Given the description of an element on the screen output the (x, y) to click on. 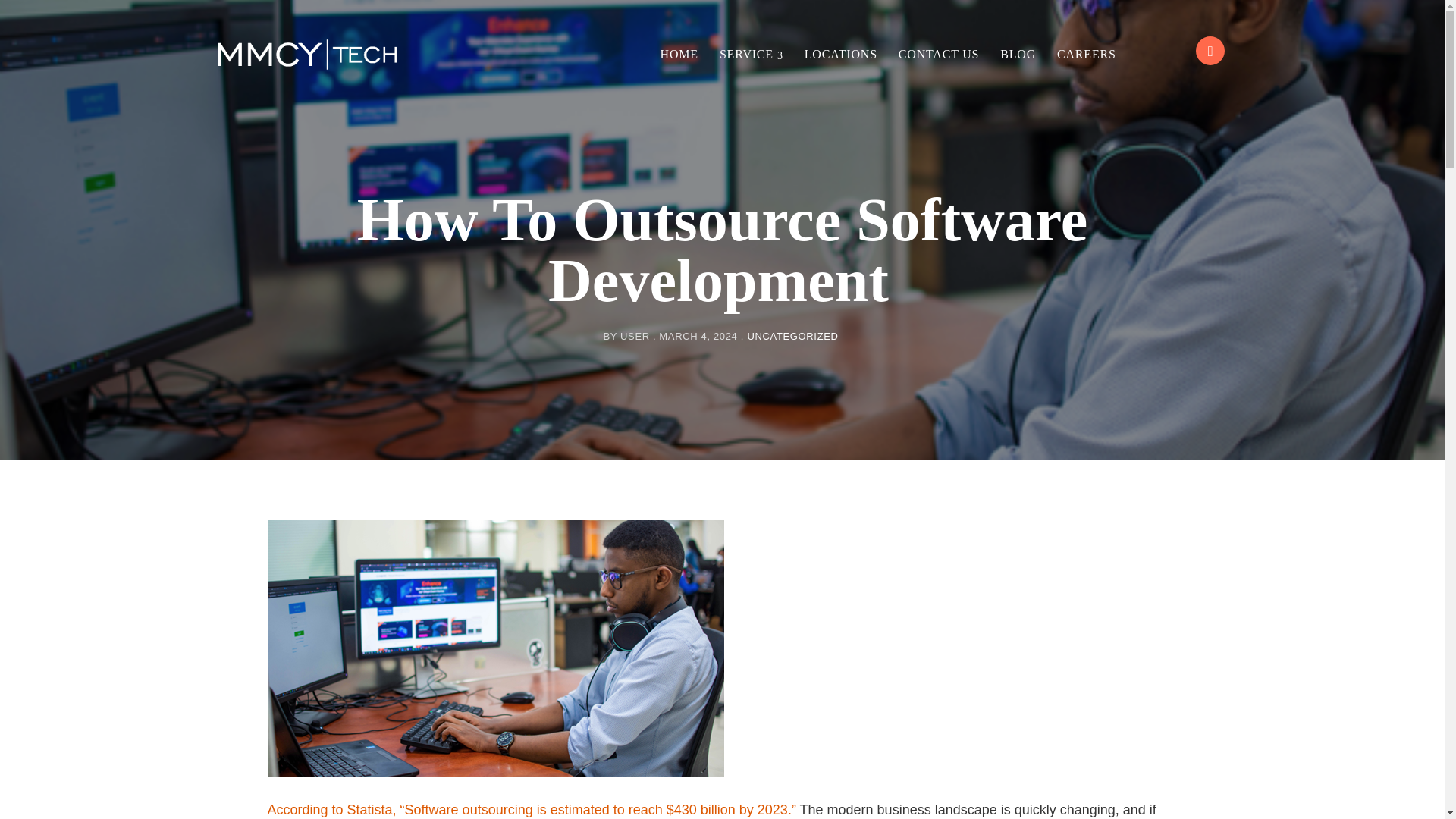
UNCATEGORIZED (792, 336)
HOME (679, 53)
SERVICE (751, 53)
BLOG (1018, 53)
CONTACT US (939, 53)
LOCATIONS (840, 53)
USER (634, 336)
CAREERS (1086, 53)
